Given the description of an element on the screen output the (x, y) to click on. 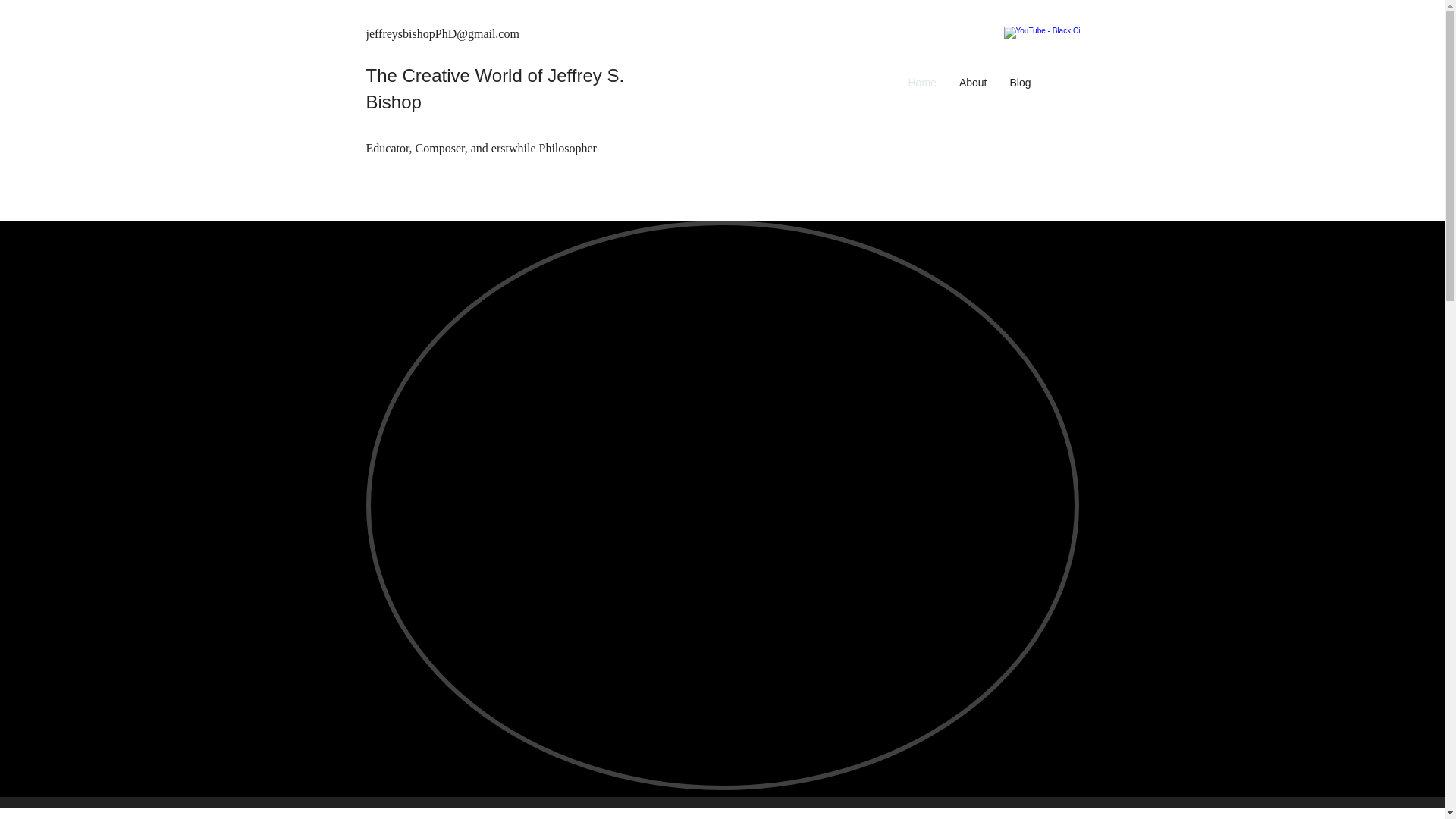
About (972, 82)
Home (921, 82)
Blog (1019, 82)
